Given the description of an element on the screen output the (x, y) to click on. 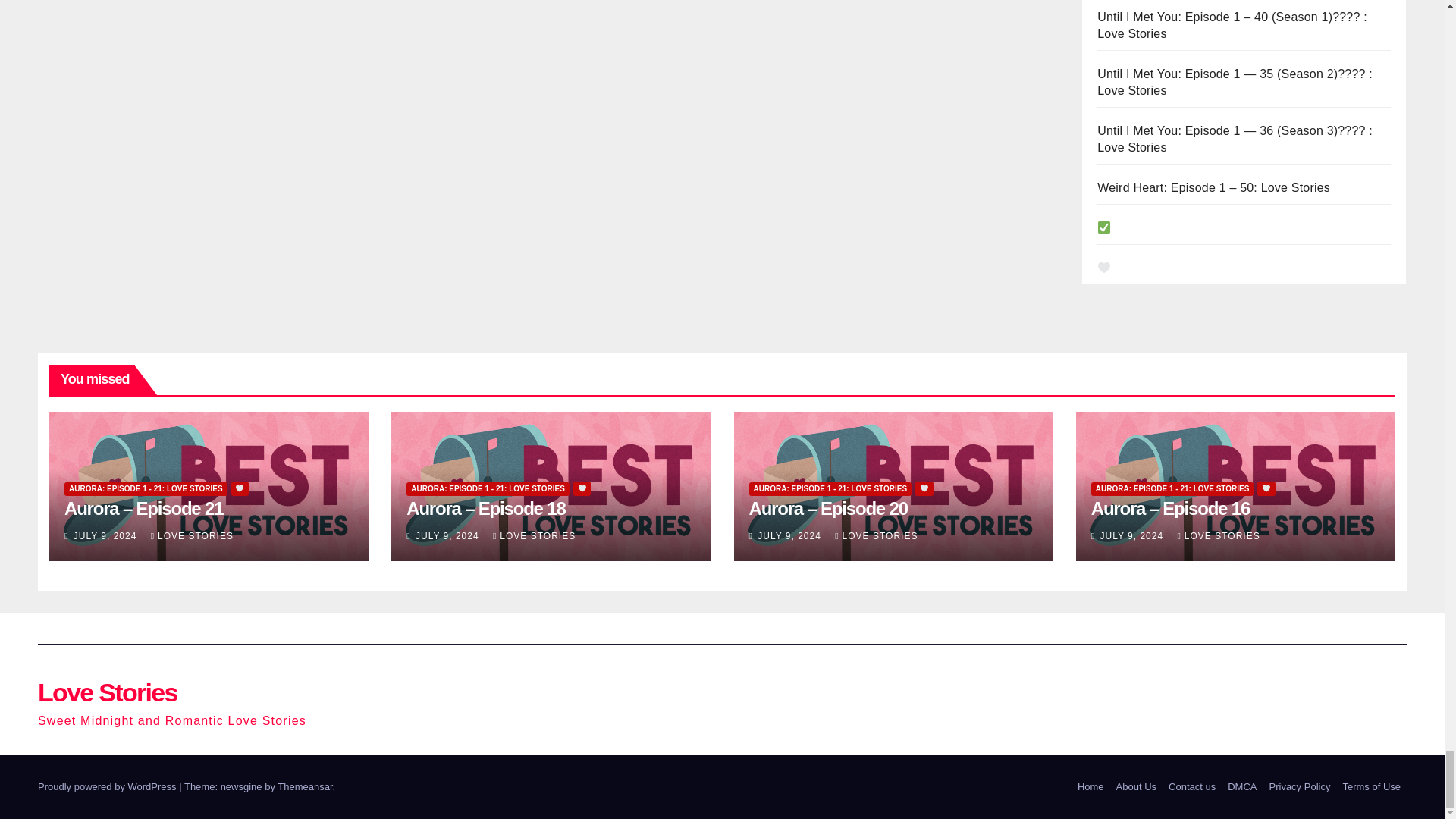
Home (1090, 786)
